Given the description of an element on the screen output the (x, y) to click on. 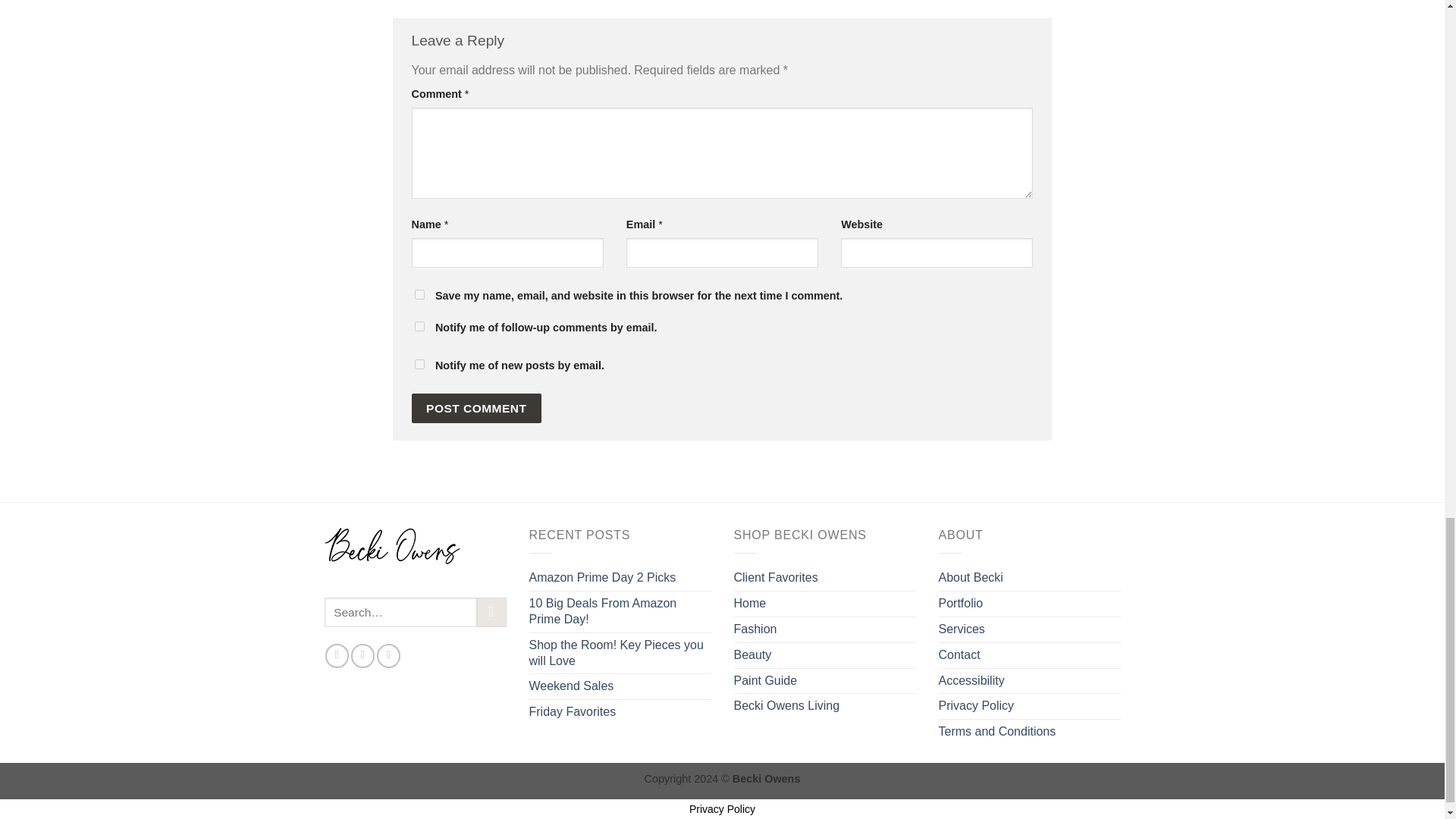
subscribe (418, 326)
Post Comment (475, 408)
subscribe (418, 364)
yes (418, 294)
